Given the description of an element on the screen output the (x, y) to click on. 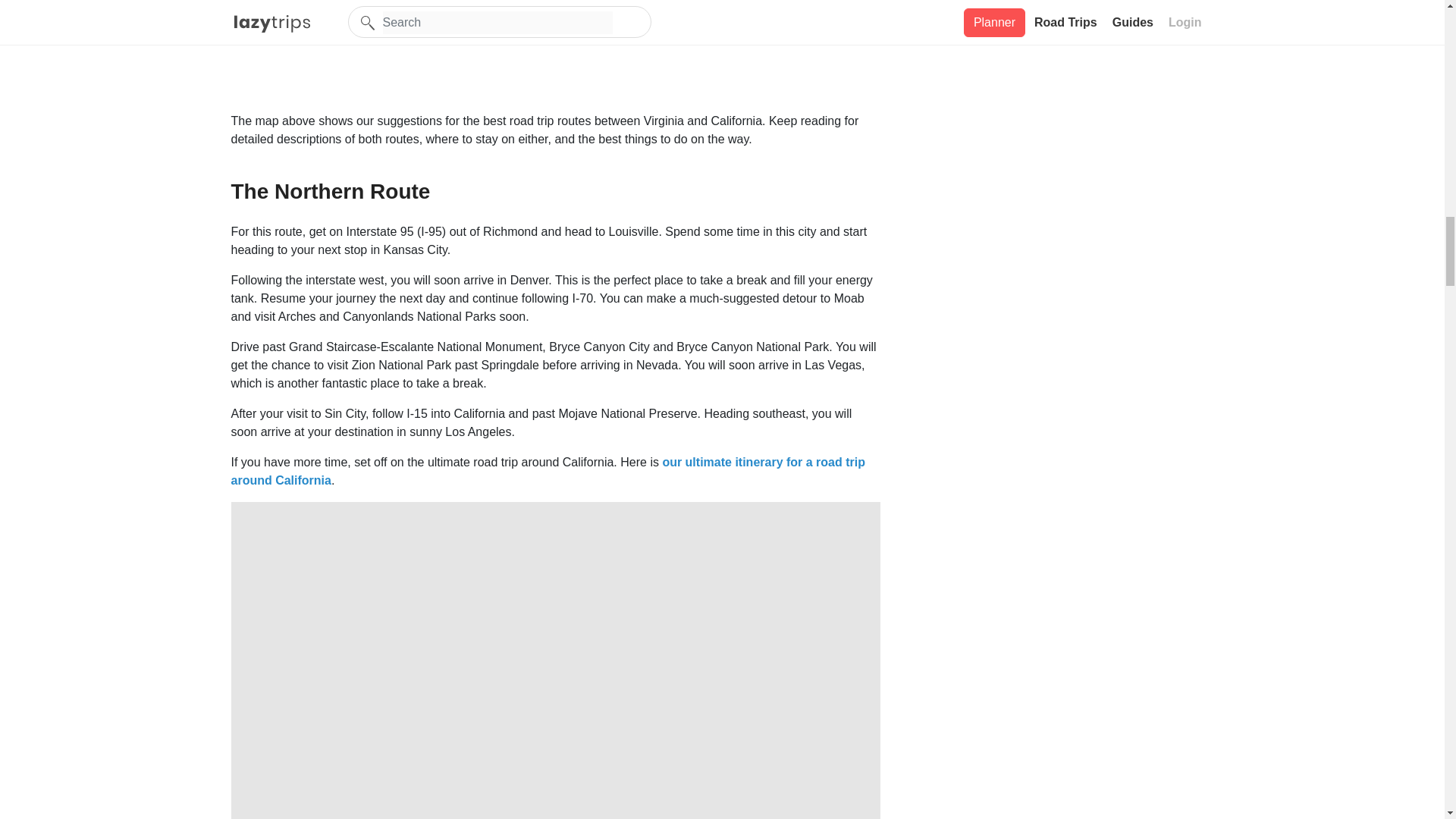
our ultimate itinerary for a road trip around California (547, 470)
